Given the description of an element on the screen output the (x, y) to click on. 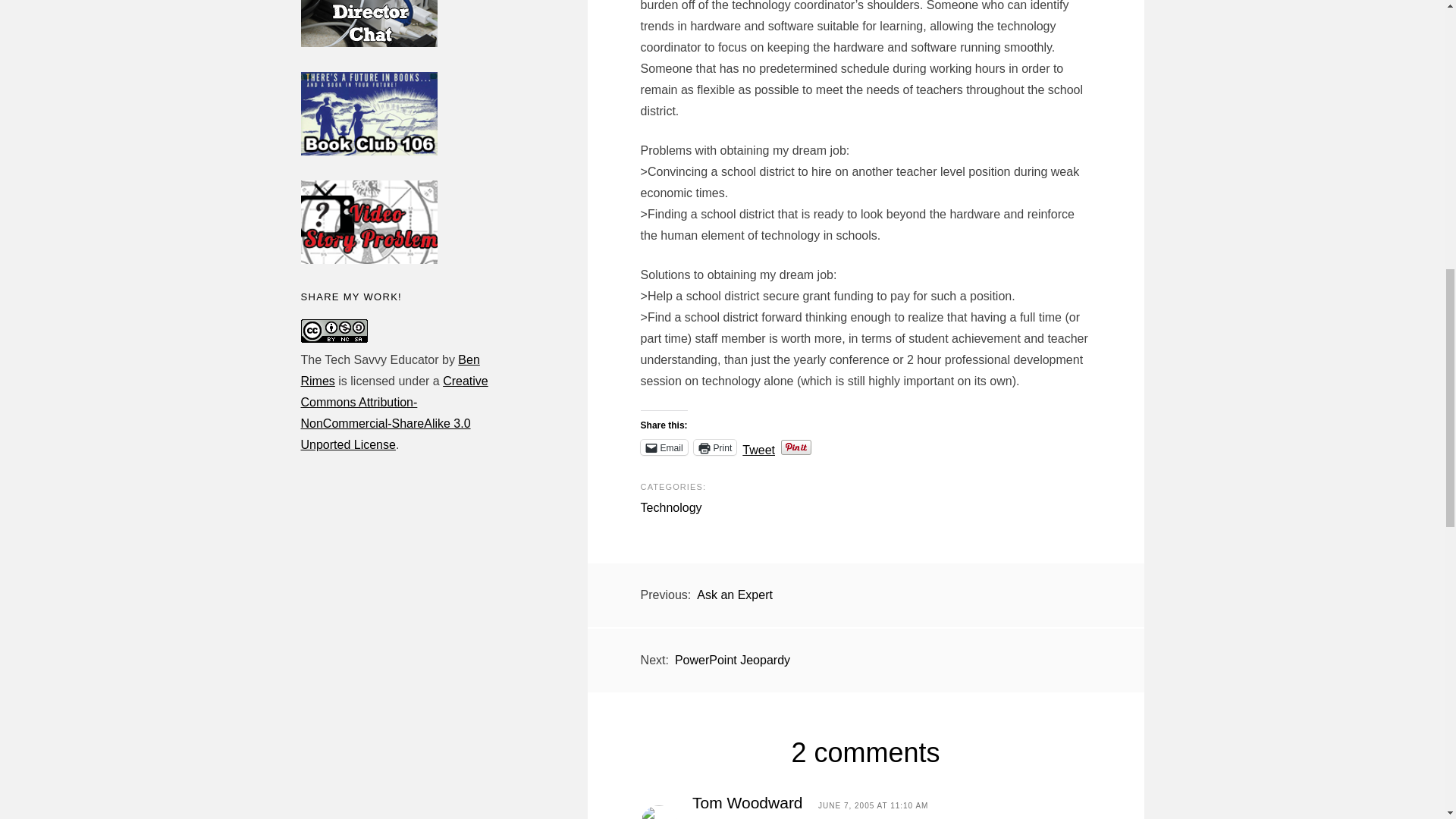
Click to print (715, 447)
Click to email a link to a friend (663, 447)
Ben Rimes (389, 369)
